Given the description of an element on the screen output the (x, y) to click on. 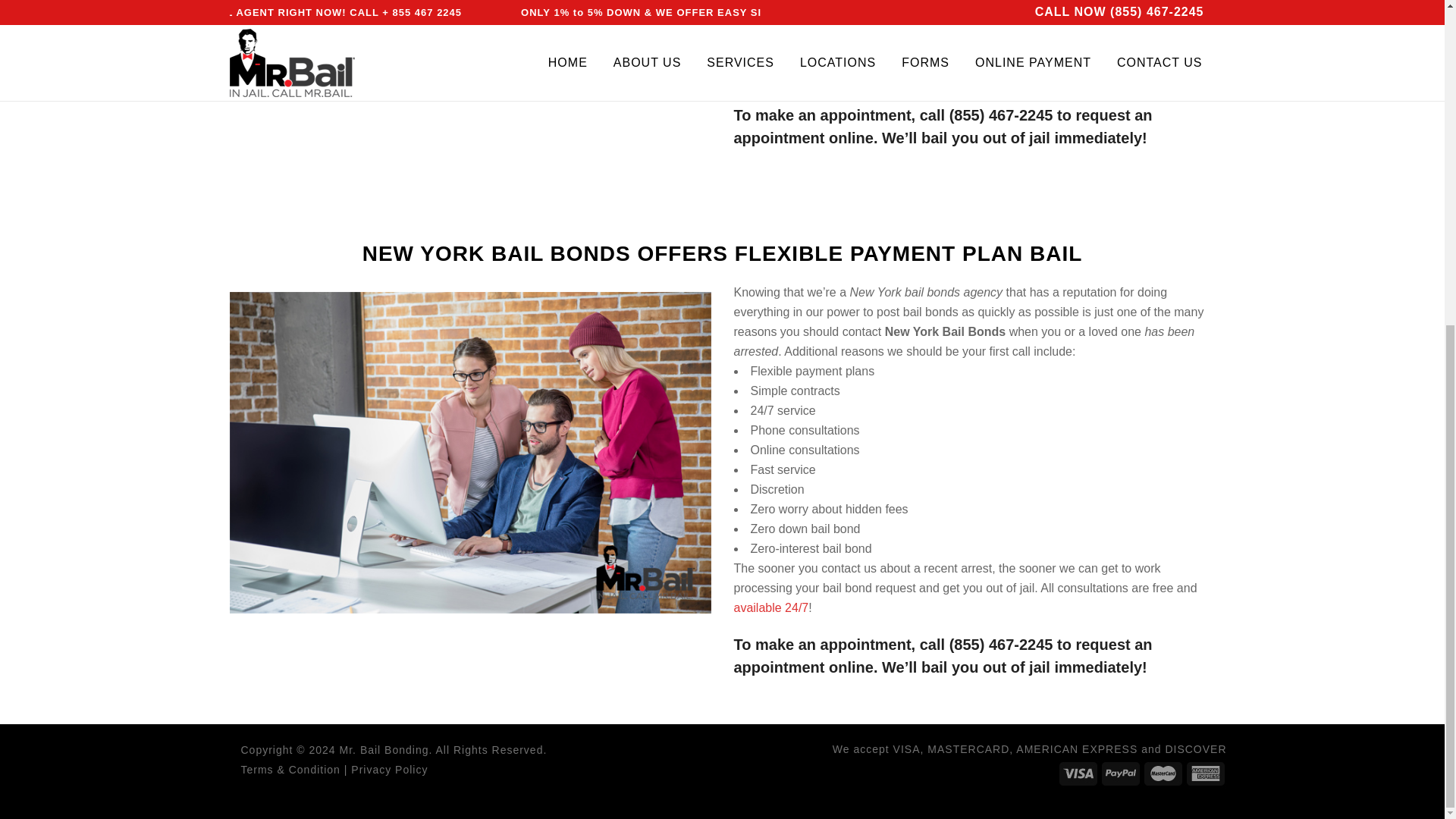
Porterville Bail Bond Store (1000, 115)
Porterville Bail Bond Store (1000, 644)
